Given the description of an element on the screen output the (x, y) to click on. 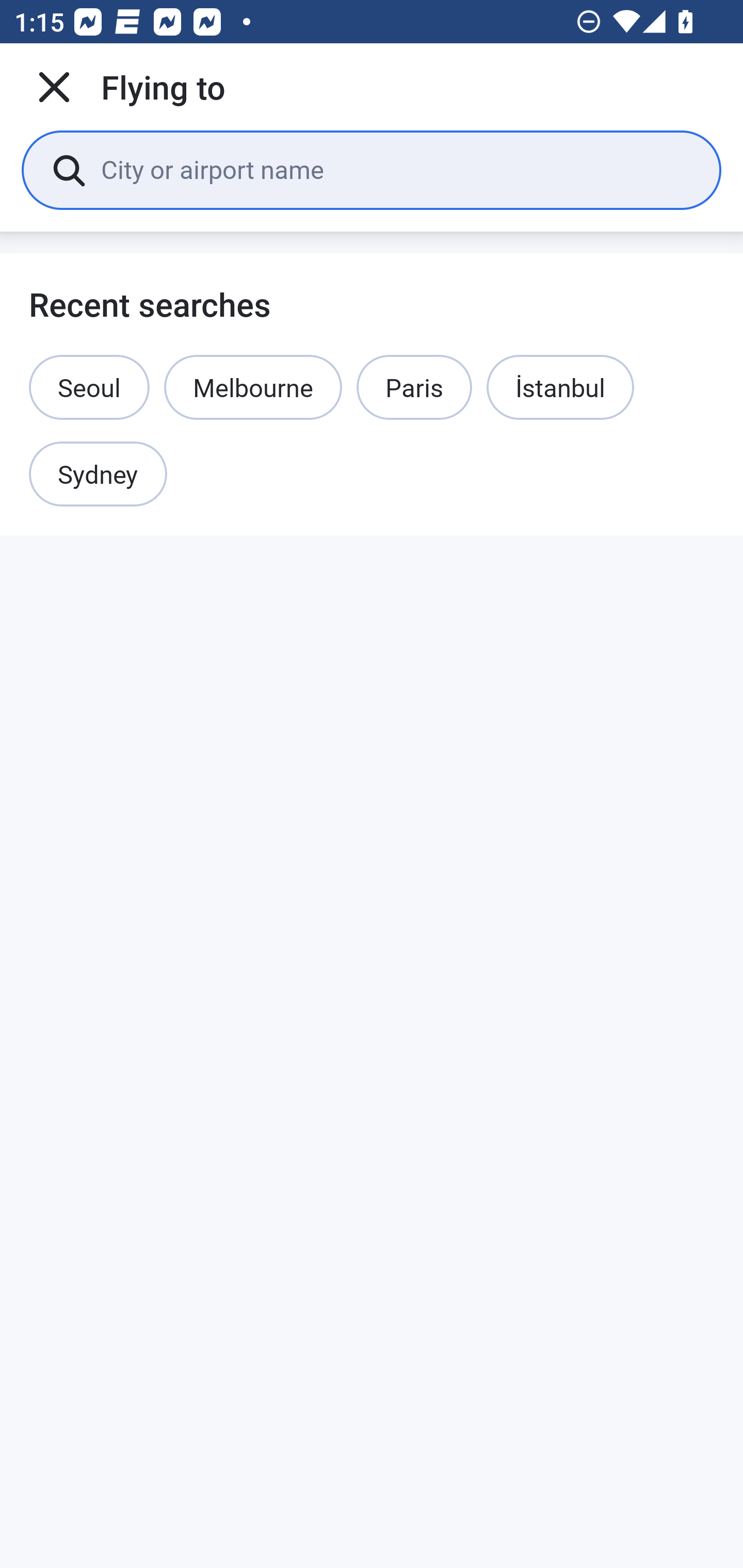
City or airport name (396, 169)
Seoul (88, 387)
Melbourne (252, 387)
Paris (413, 387)
İstanbul (559, 387)
Sydney (97, 474)
